Given the description of an element on the screen output the (x, y) to click on. 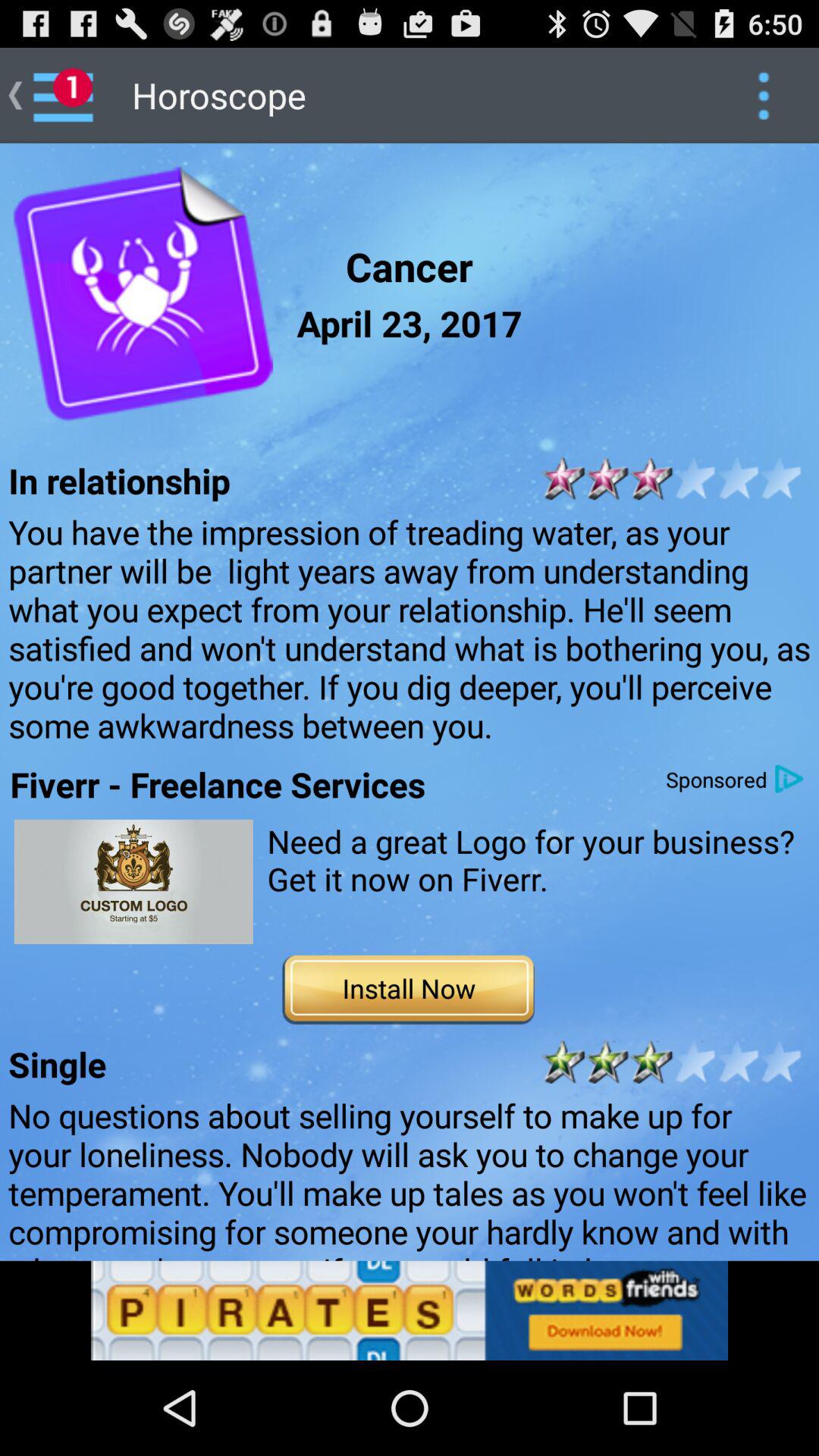
open menu (763, 95)
